Given the description of an element on the screen output the (x, y) to click on. 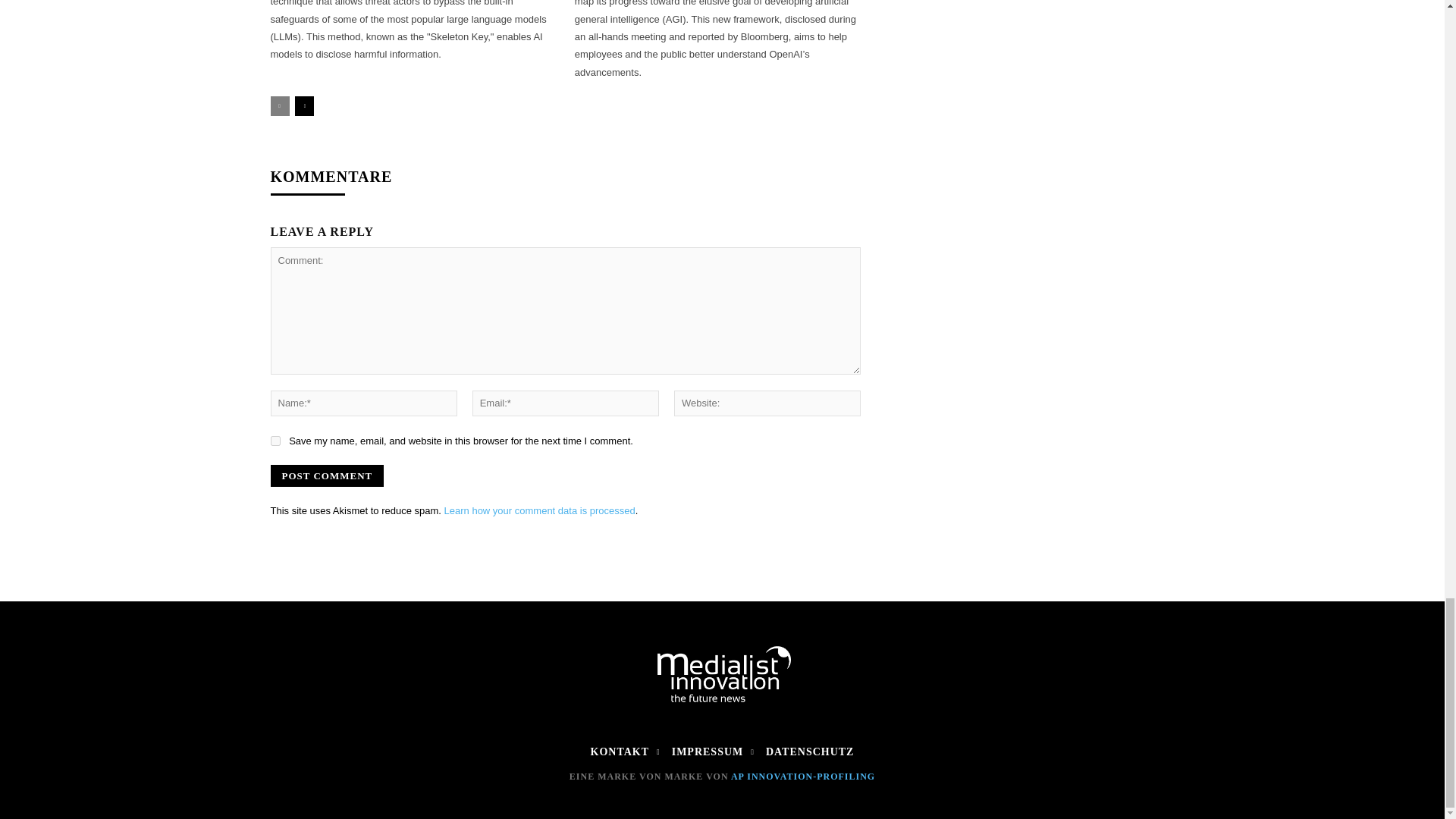
yes (274, 440)
Post Comment (326, 475)
